Given the description of an element on the screen output the (x, y) to click on. 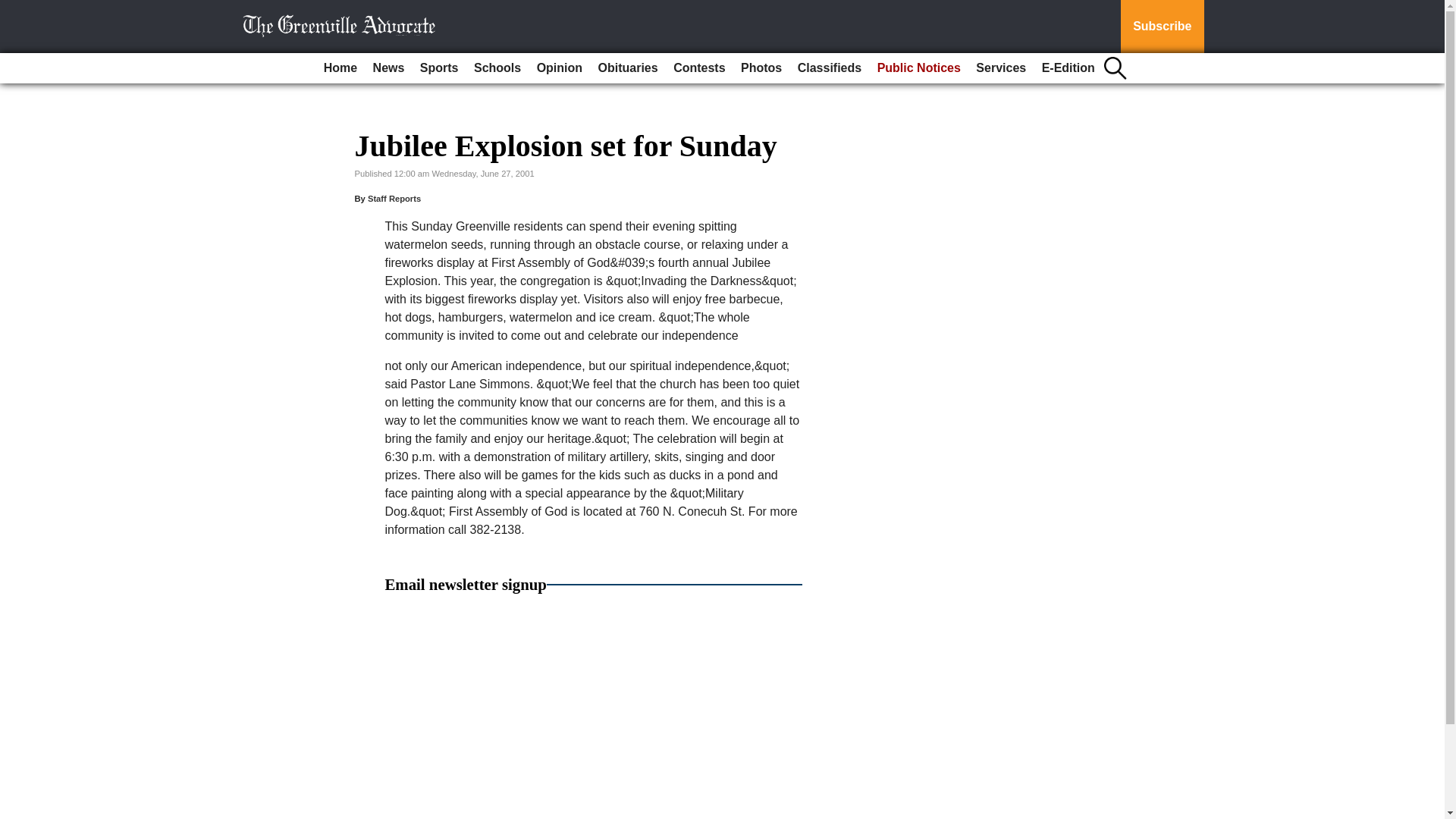
Services (1000, 68)
Home (339, 68)
Schools (497, 68)
Opinion (559, 68)
Contests (698, 68)
Obituaries (627, 68)
News (388, 68)
Public Notices (918, 68)
Photos (761, 68)
E-Edition (1067, 68)
Staff Reports (394, 198)
Subscribe (1162, 26)
Go (13, 9)
Classifieds (829, 68)
Sports (438, 68)
